Given the description of an element on the screen output the (x, y) to click on. 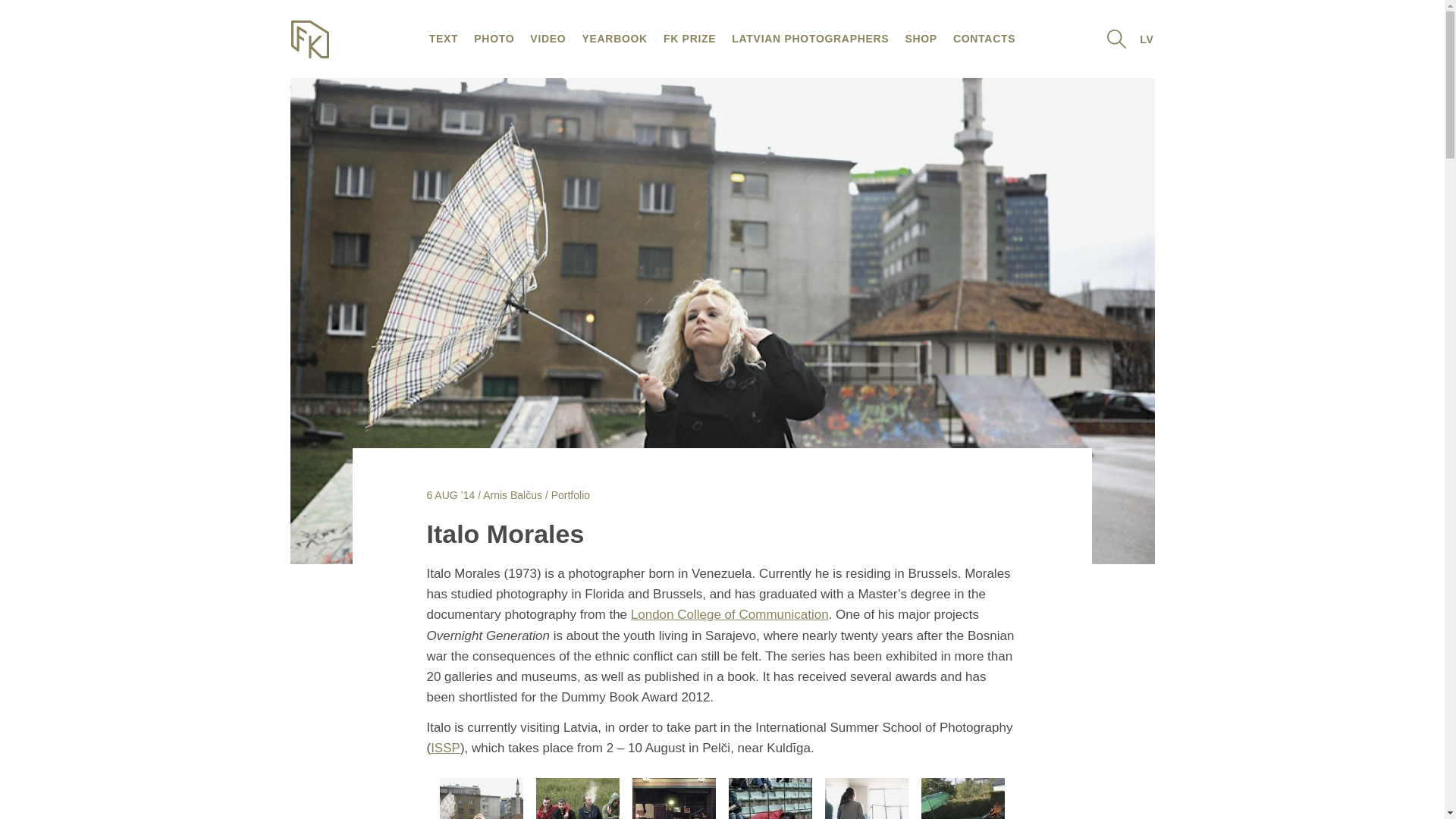
Italo Morales. From the series "Overnight Generation" (673, 815)
Latvian Photographers (809, 38)
SHOP (920, 38)
TEXT (442, 38)
Video (547, 38)
Italo Morales. From the series "Overnight Generation" (962, 815)
London College of Communication (729, 614)
Contacts (983, 38)
Italo Morales. From the series "Overnight Generation" (480, 815)
YEARBOOK (614, 38)
